Given the description of an element on the screen output the (x, y) to click on. 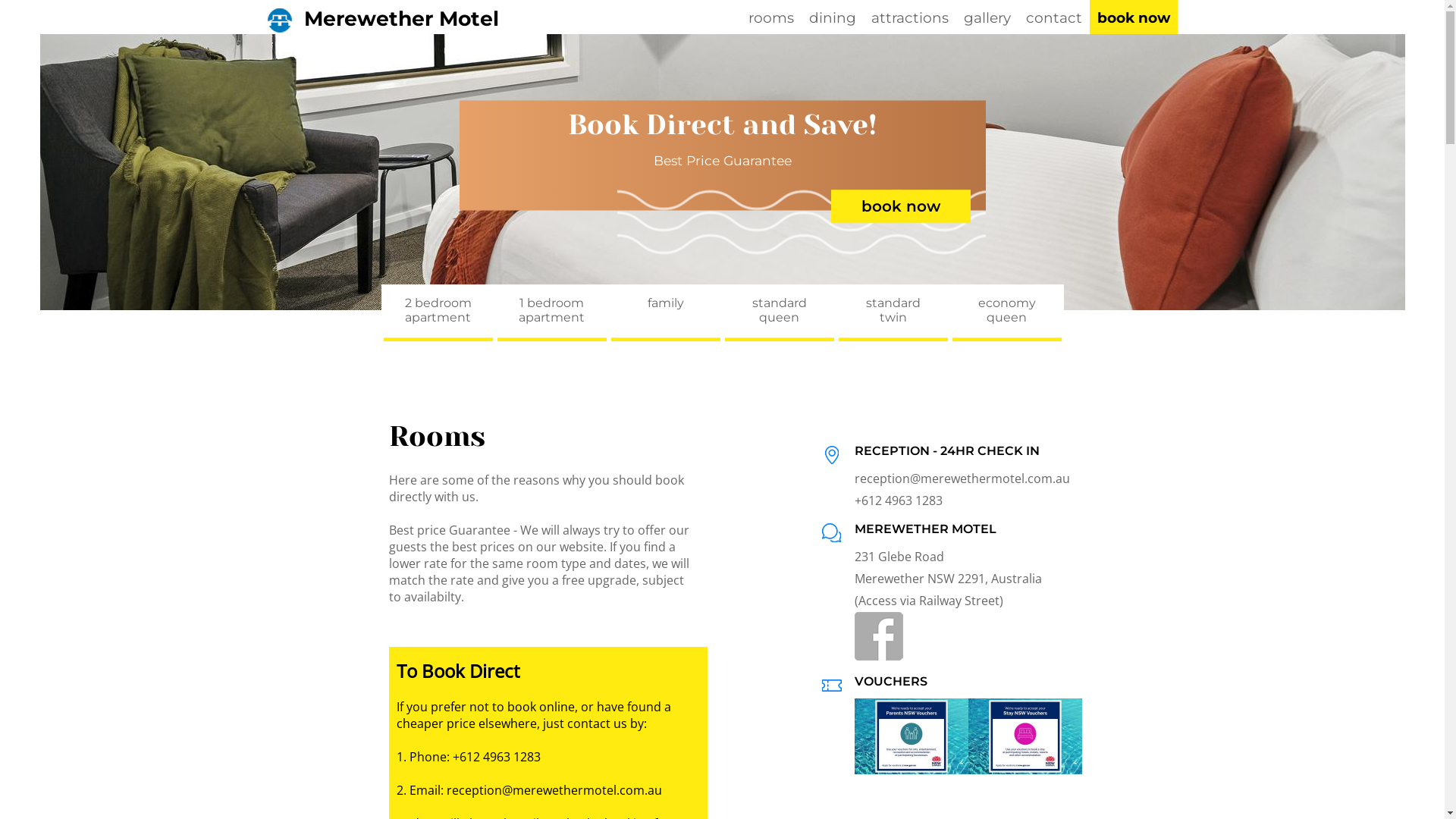
book now Element type: text (900, 206)
Merewether Motel Element type: text (382, 20)
book now Element type: text (1132, 17)
gallery Element type: text (986, 17)
2 bedroom
apartment Element type: text (437, 314)
standard
twin Element type: text (892, 314)
dining Element type: text (831, 17)
family Element type: text (664, 314)
standard
queen Element type: text (778, 314)
rooms Element type: text (770, 17)
economy
queen Element type: text (1006, 314)
attractions Element type: text (908, 17)
+612 4963 1283 Element type: text (897, 500)
1 bedroom
apartment Element type: text (551, 314)
reception@merewethermotel.com.au Element type: text (961, 478)
contact Element type: text (1053, 17)
